Given the description of an element on the screen output the (x, y) to click on. 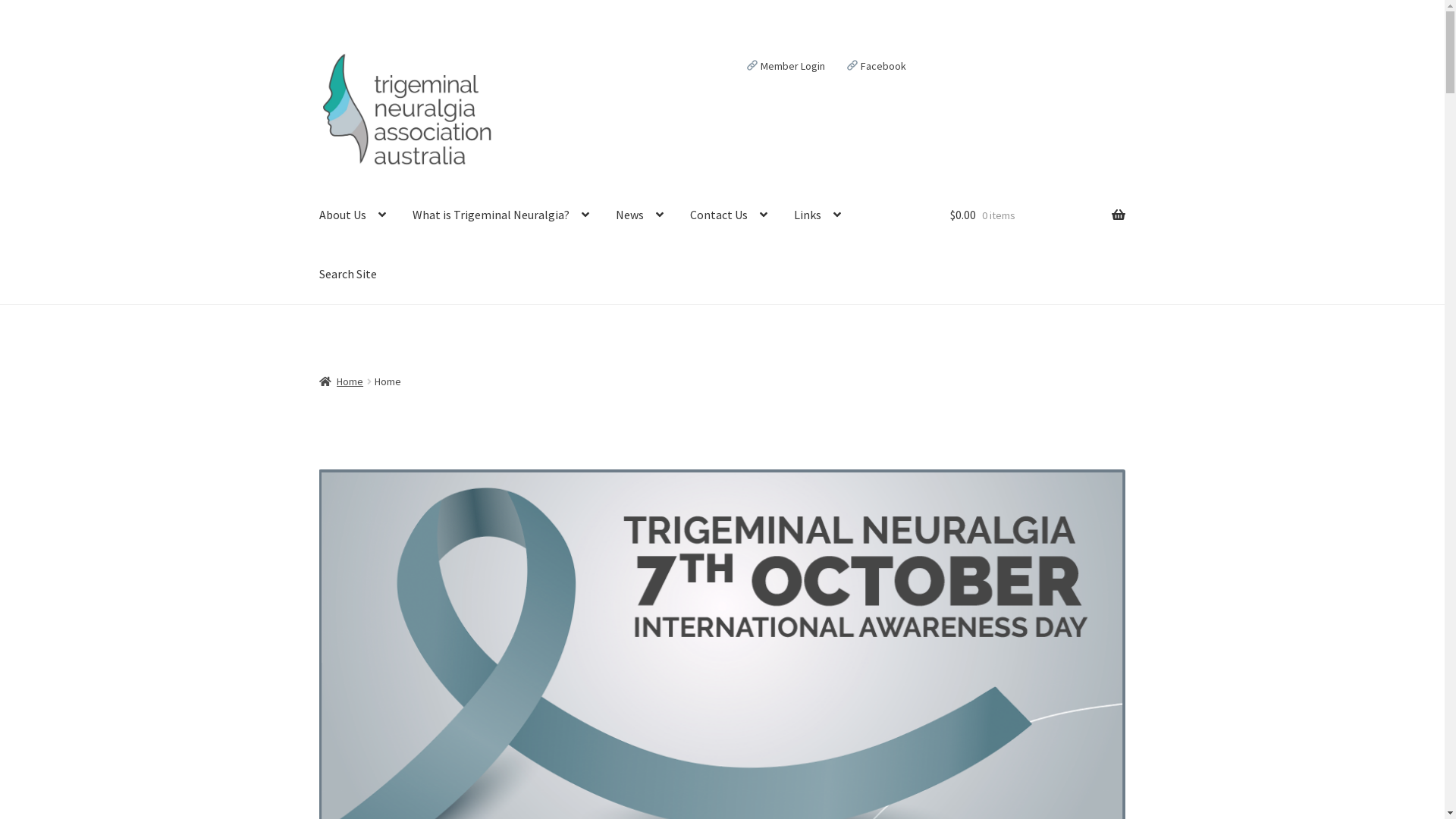
Home Element type: text (341, 381)
What is Trigeminal Neuralgia? Element type: text (500, 214)
Skip to navigation Element type: text (318, 48)
$0.00 0 items Element type: text (1037, 214)
Member Login Element type: text (785, 65)
Contact Us Element type: text (728, 214)
Facebook Element type: text (875, 65)
Links Element type: text (817, 214)
About Us Element type: text (352, 214)
Search Site Element type: text (348, 274)
News Element type: text (639, 214)
